Given the description of an element on the screen output the (x, y) to click on. 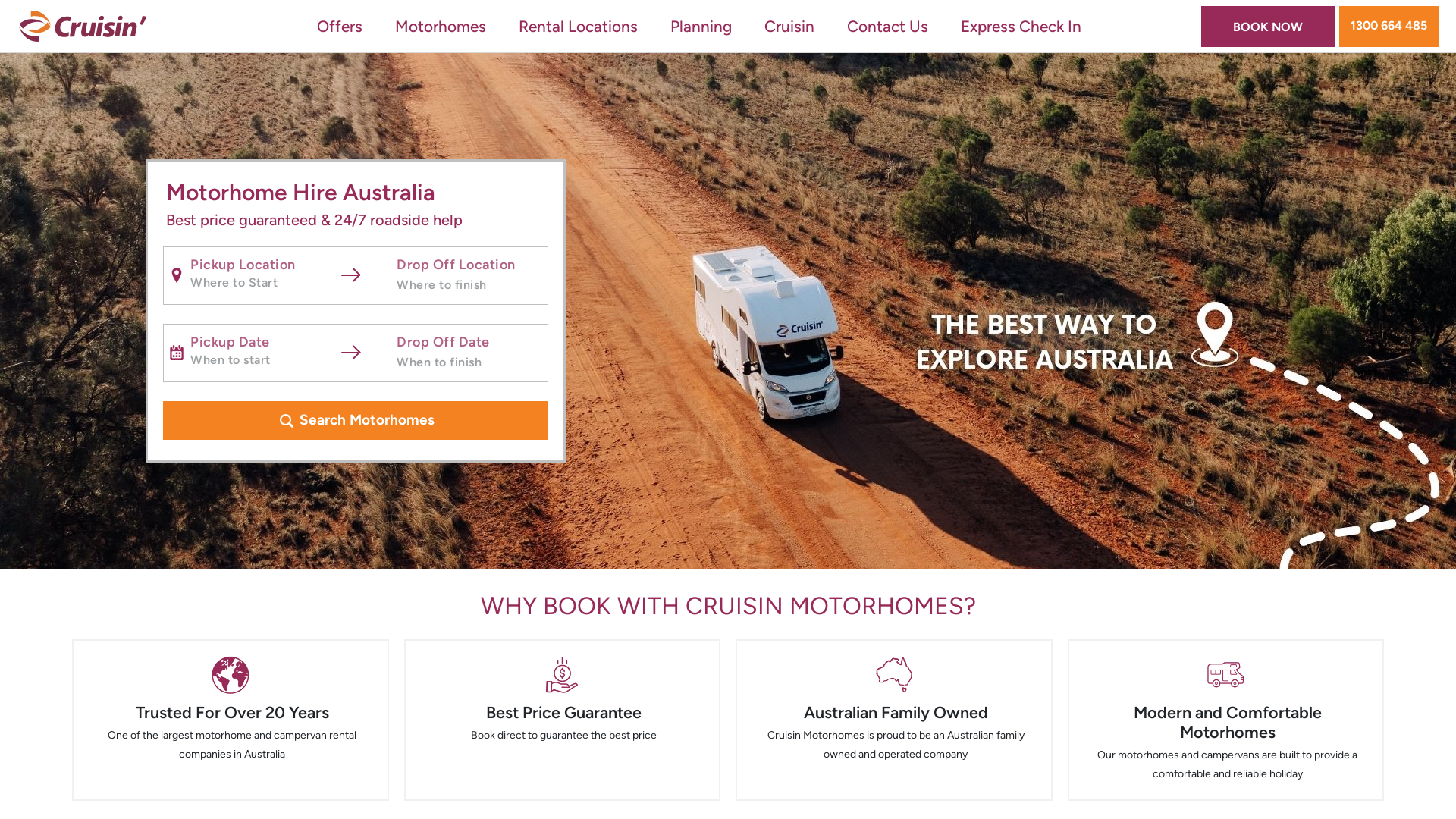
Rental Locations Element type: text (577, 25)
Search Motorhomes Element type: text (355, 420)
Contact Us Element type: text (887, 25)
Offers Element type: text (339, 25)
Cruisin Element type: text (789, 25)
1300 664 485 Element type: text (1388, 26)
BOOK NOW Element type: text (1267, 26)
Motorhomes Element type: text (440, 25)
Express Check In Element type: text (1020, 25)
Planning Element type: text (700, 25)
